Given the description of an element on the screen output the (x, y) to click on. 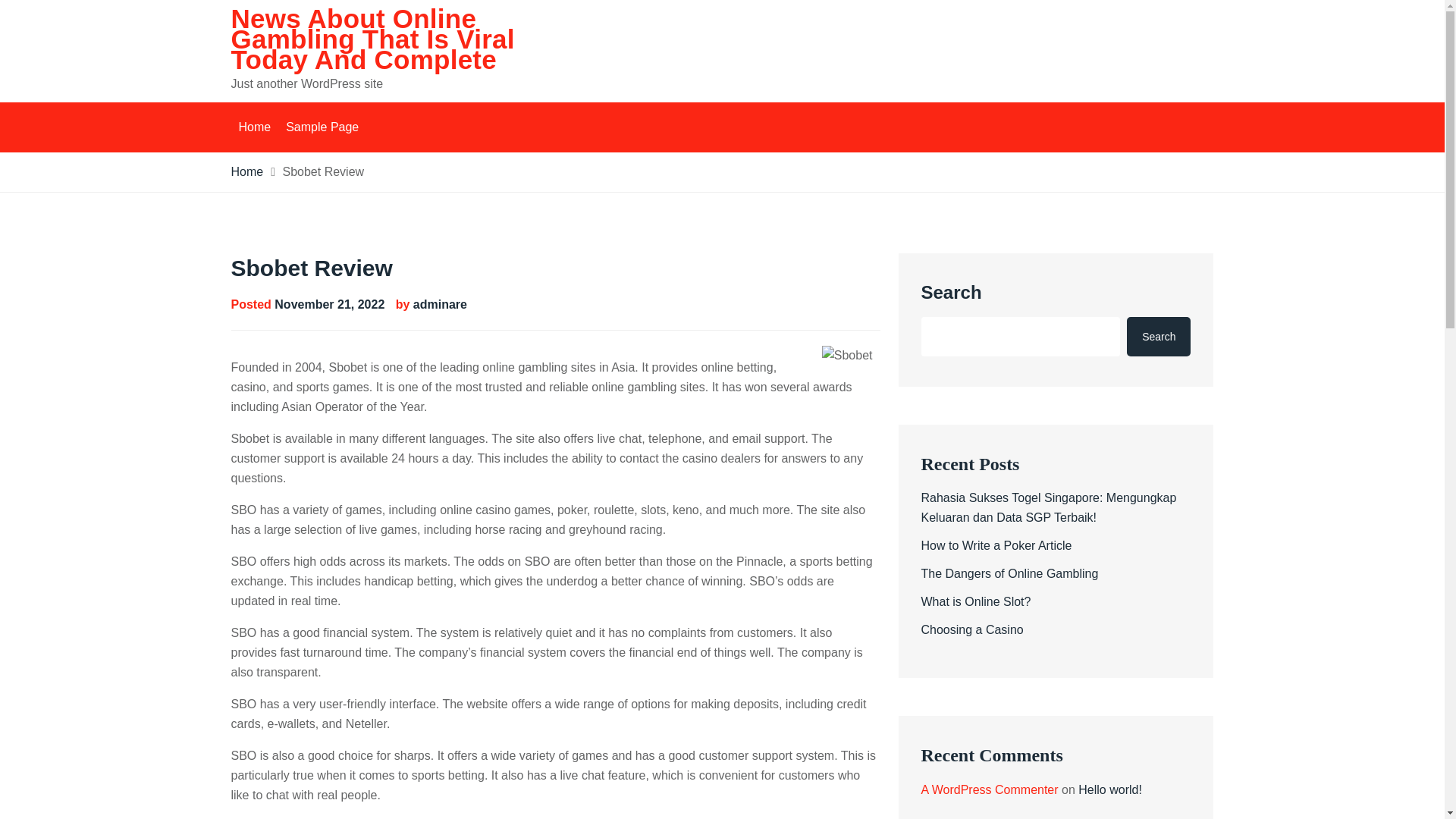
Sample Page (322, 127)
The Dangers of Online Gambling (1008, 573)
What is Online Slot? (975, 601)
Choosing a Casino (971, 629)
News About Online Gambling That Is Viral Today And Complete (371, 39)
Search (1158, 336)
A WordPress Commenter (989, 789)
Hello world! (1109, 789)
Home (254, 127)
Home (246, 171)
